Given the description of an element on the screen output the (x, y) to click on. 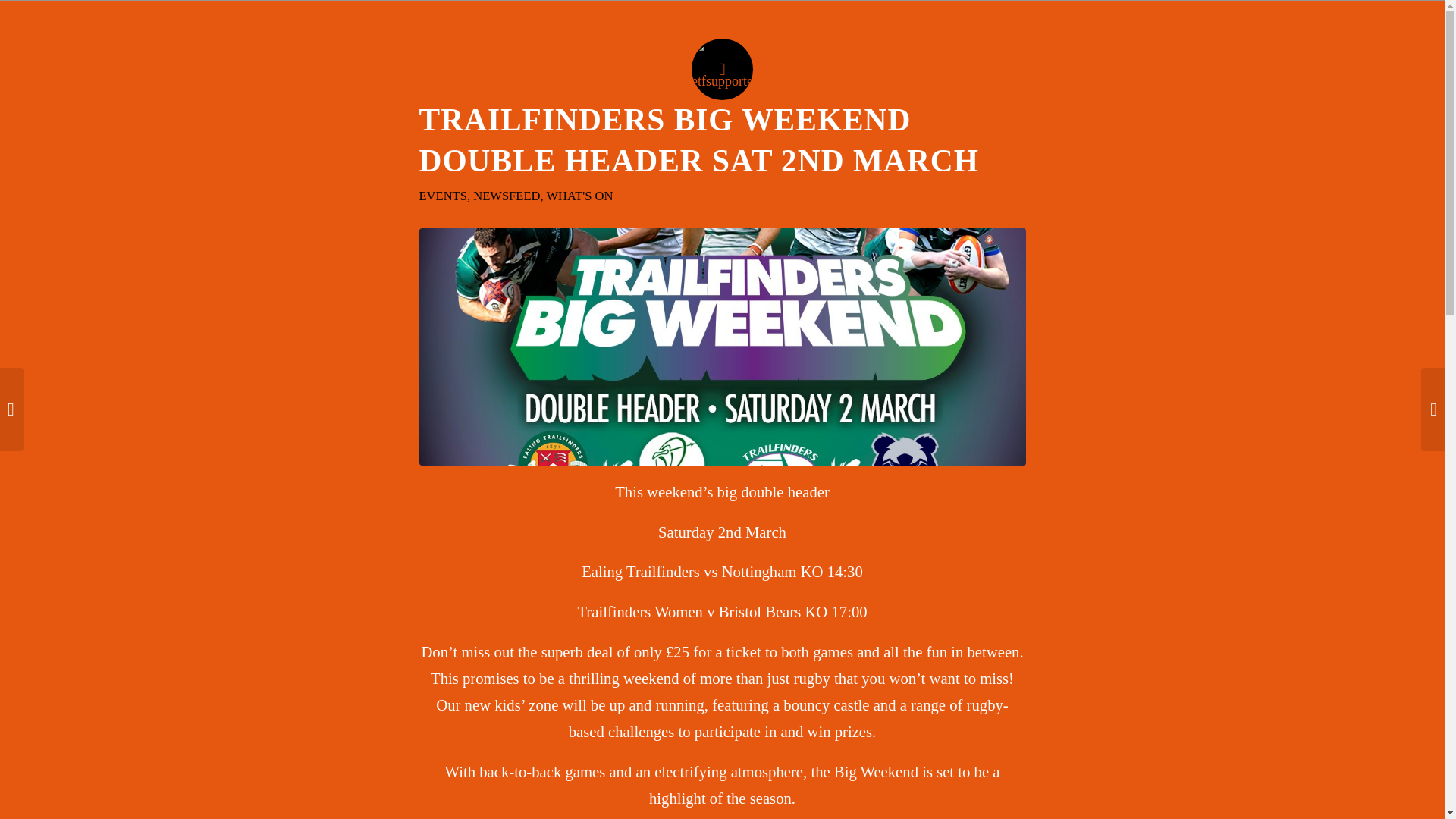
NEWSFEED (506, 196)
EVENTS (442, 196)
WHAT'S ON (579, 196)
